Given the description of an element on the screen output the (x, y) to click on. 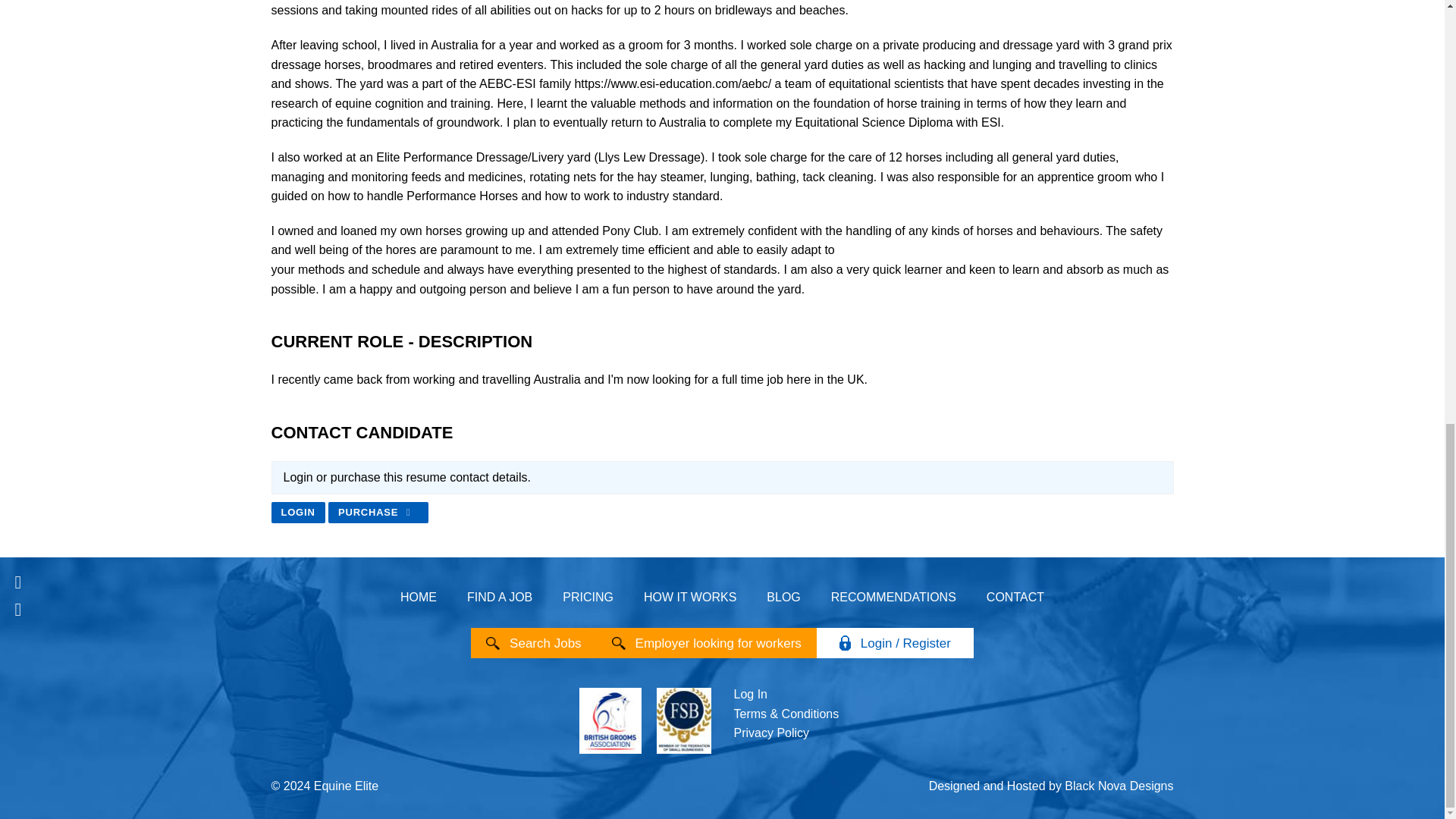
PRICING (587, 596)
Employer looking for workers (718, 643)
HOME (418, 596)
Log In (750, 694)
PURCHASE   (378, 512)
BLOG (783, 596)
LOGIN (297, 512)
HOW IT WORKS (689, 596)
RECOMMENDATIONS (893, 596)
FIND A JOB (499, 596)
Search Jobs (544, 643)
Privacy Policy (771, 732)
CONTACT (1015, 596)
